Given the description of an element on the screen output the (x, y) to click on. 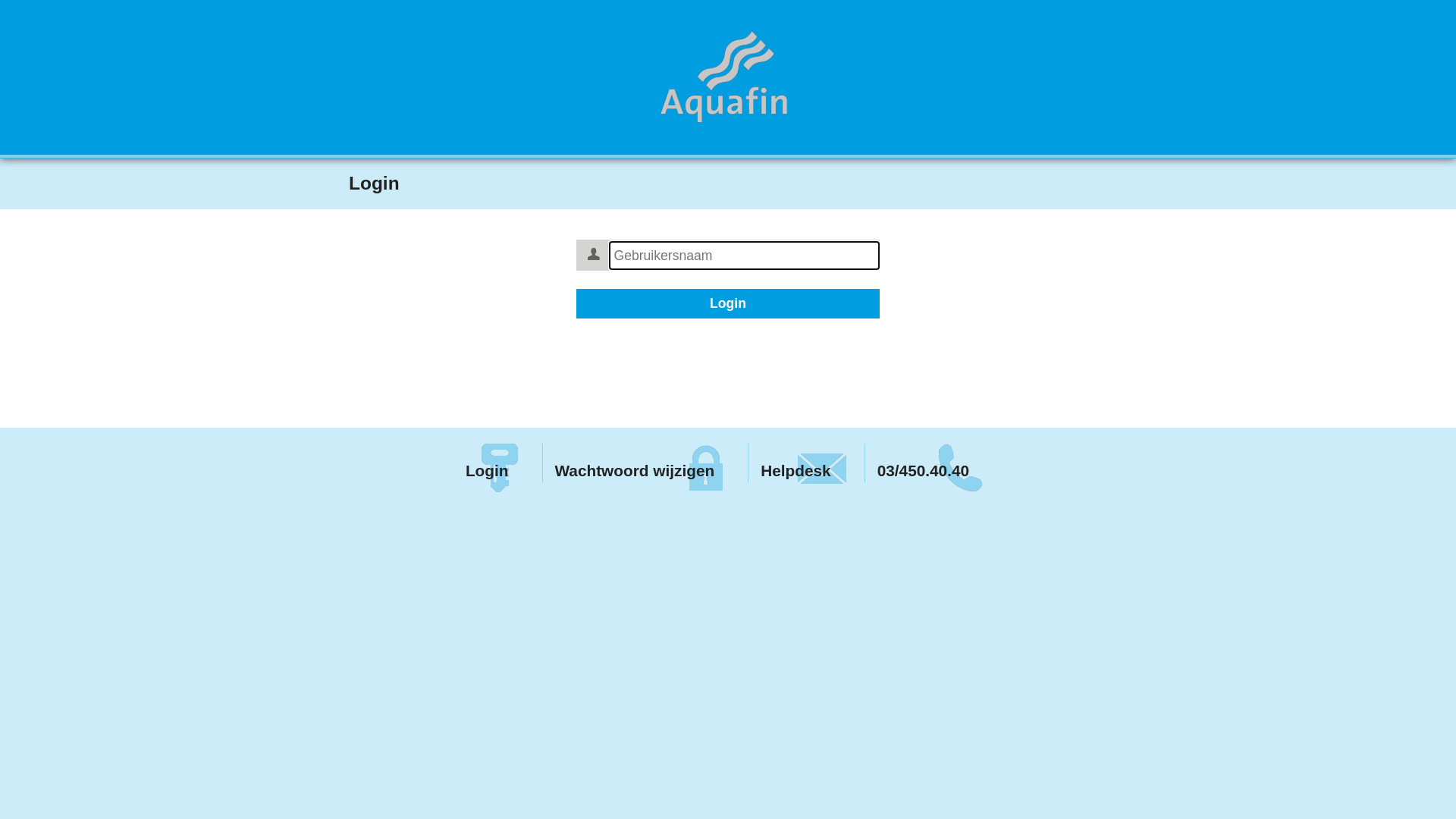
03/450.40.40 Element type: text (930, 461)
Helpdesk Element type: text (802, 461)
Login Element type: text (727, 303)
Wachtwoord wijzigen Element type: text (642, 461)
Login Element type: text (494, 461)
